Given the description of an element on the screen output the (x, y) to click on. 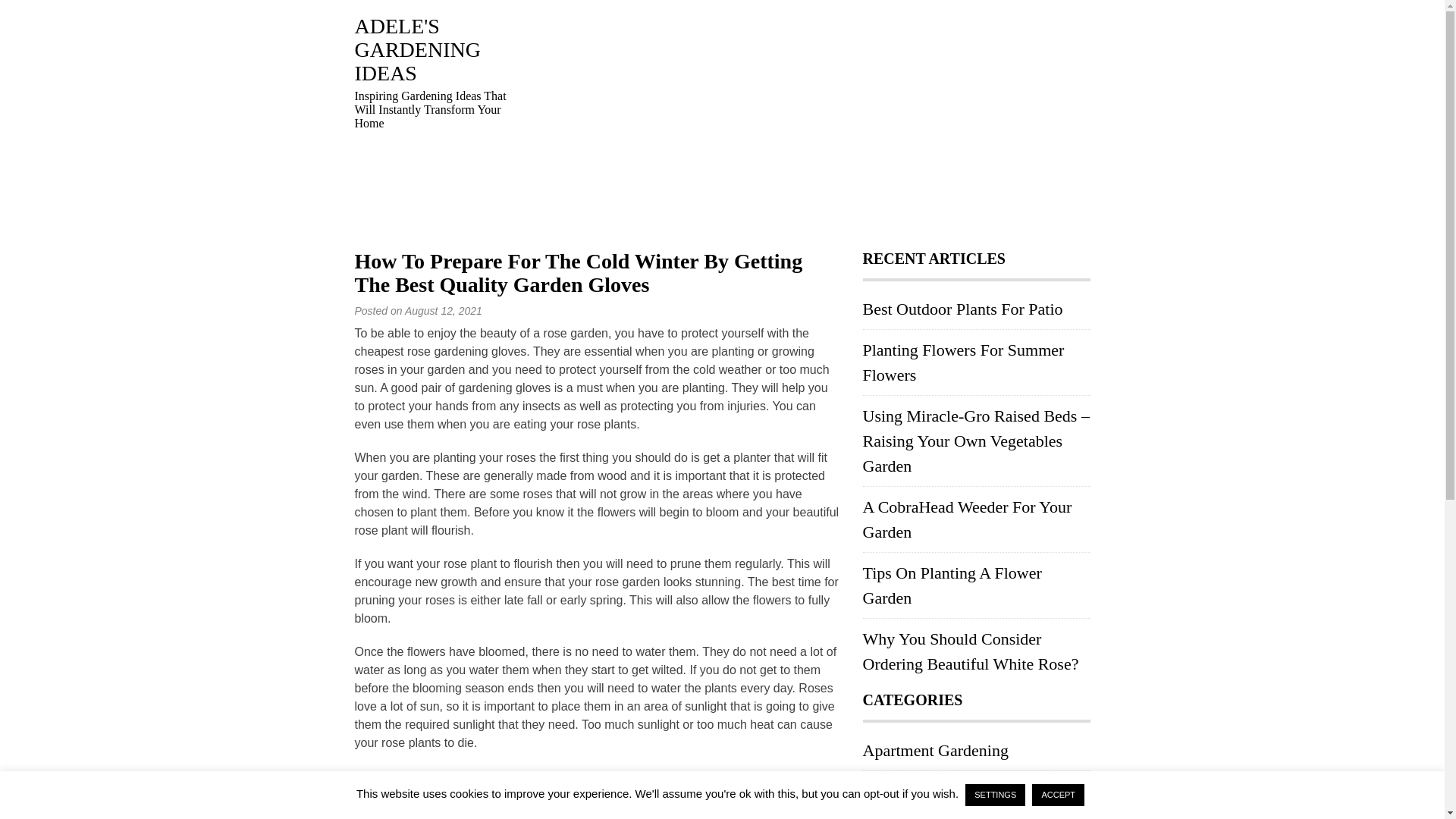
Carnivorous Plants (926, 791)
A CobraHead Weeder For Your Garden (967, 519)
Planting Flowers For Summer Flowers (963, 362)
Best Outdoor Plants For Patio (962, 308)
Apartment Gardening (936, 750)
ACCEPT (1058, 794)
ADELE'S GARDENING IDEAS (417, 49)
Advertisement (809, 121)
Tips On Planting A Flower Garden (952, 585)
Why You Should Consider Ordering Beautiful White Rose? (970, 651)
